Given the description of an element on the screen output the (x, y) to click on. 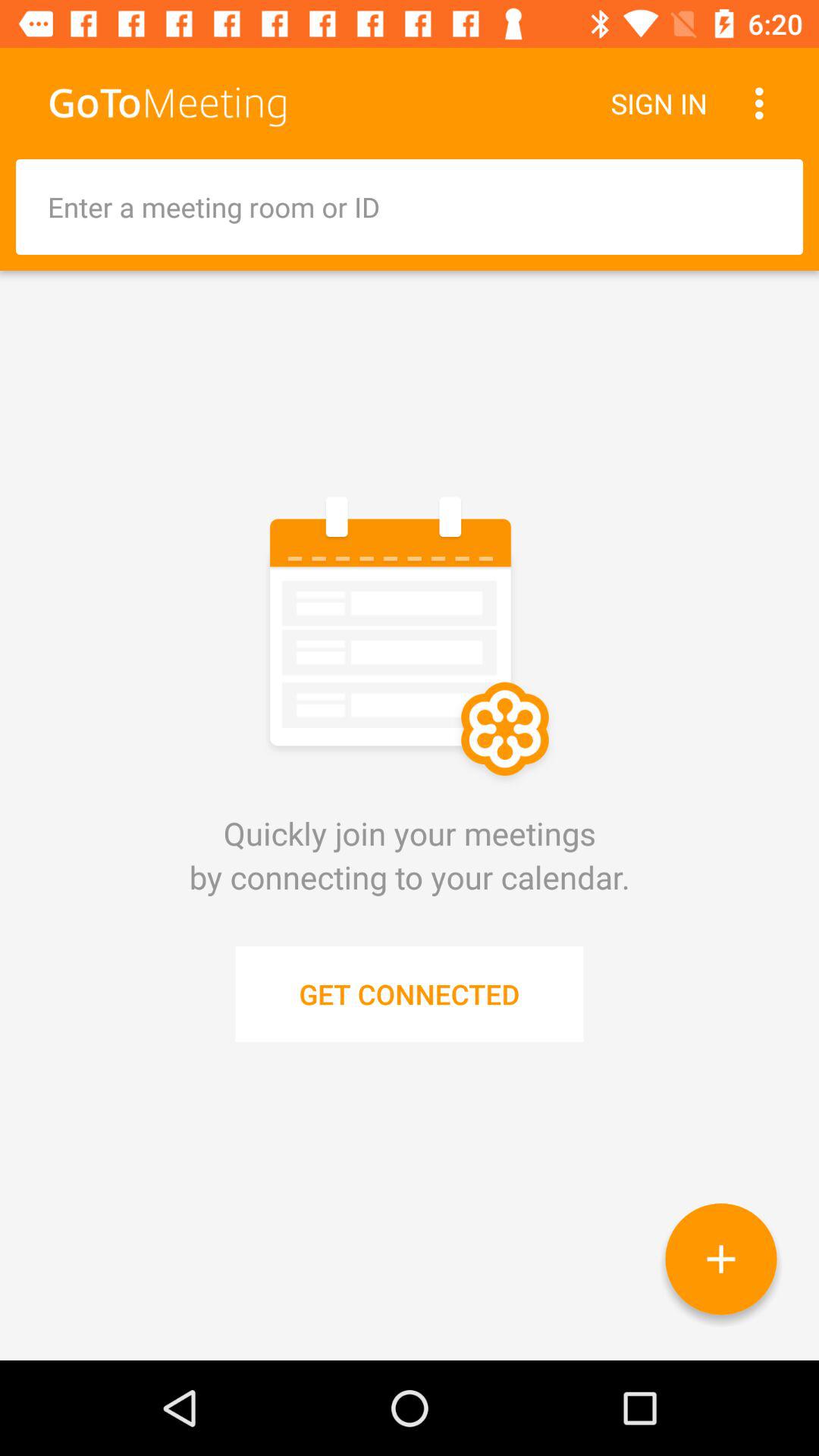
enter meeting room or i.d (409, 206)
